Given the description of an element on the screen output the (x, y) to click on. 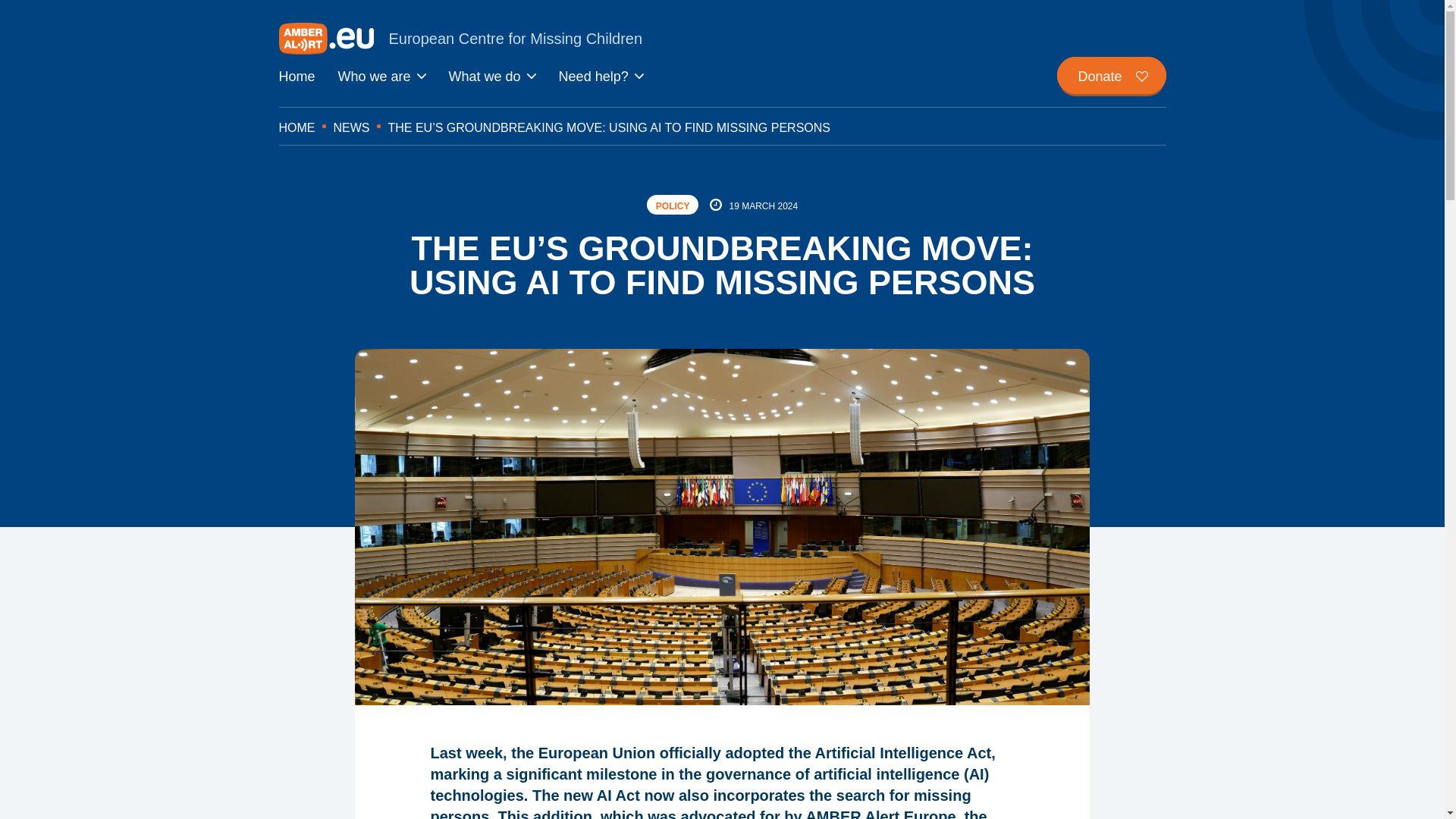
Need help? (601, 76)
Go to News. (351, 127)
NEWS (351, 127)
AMBER Alert Europe (722, 38)
Who we are (381, 76)
Donate (1111, 75)
HOME (297, 127)
What we do (491, 76)
